Given the description of an element on the screen output the (x, y) to click on. 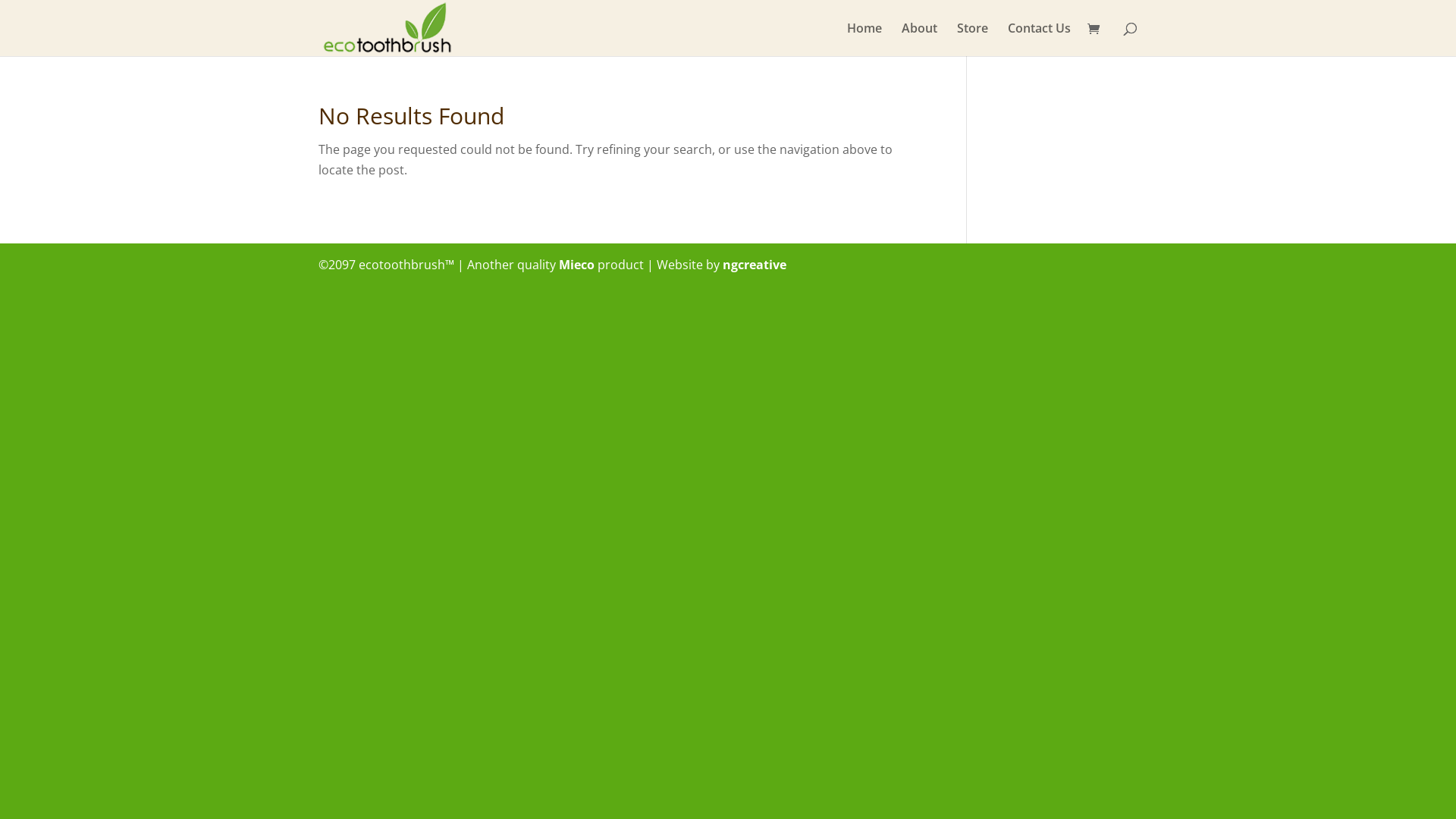
Contact Us Element type: text (1038, 39)
About Element type: text (919, 39)
Home Element type: text (864, 39)
Store Element type: text (972, 39)
Mieco Element type: text (576, 264)
ngcreative Element type: text (754, 264)
